Given the description of an element on the screen output the (x, y) to click on. 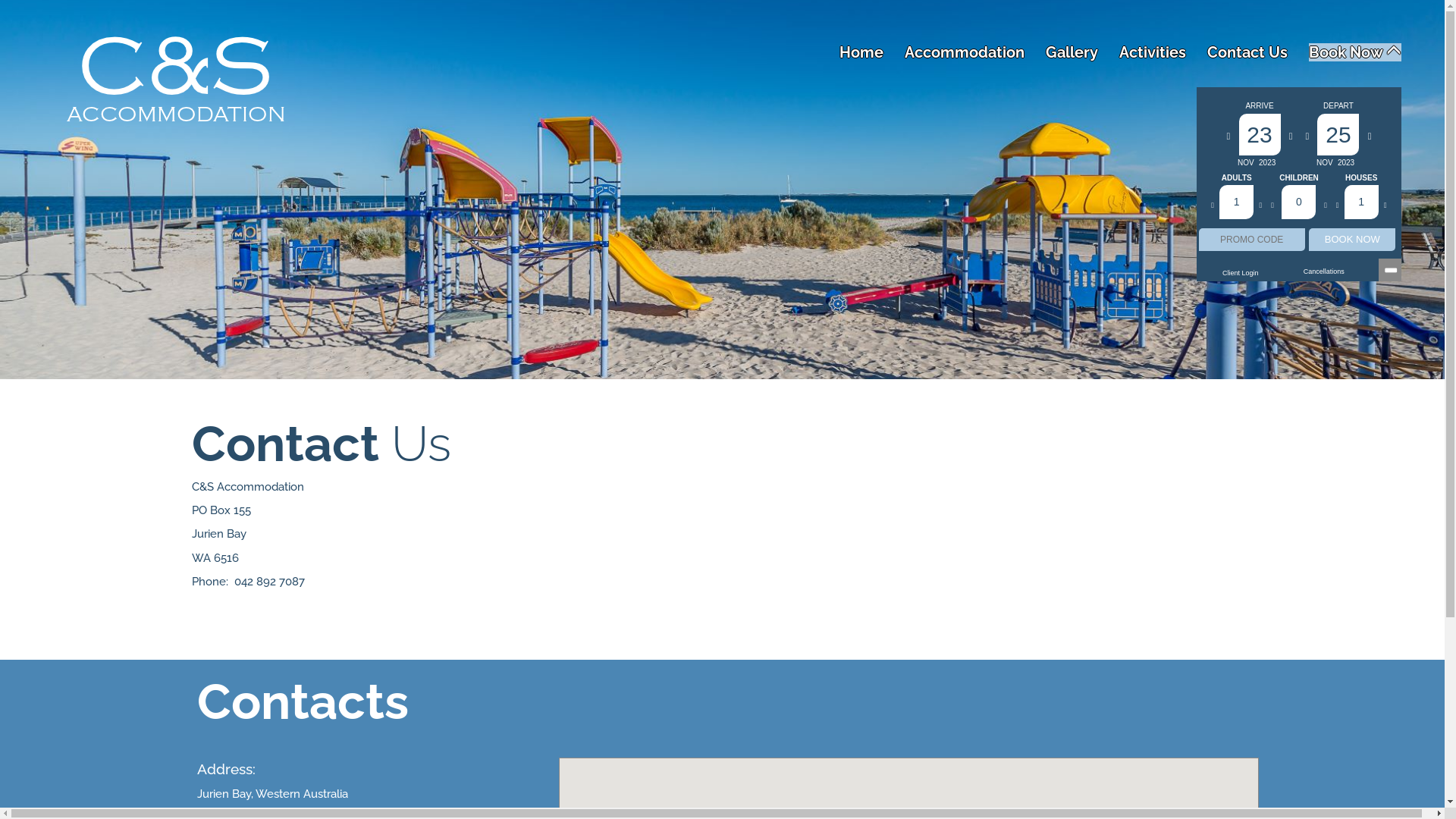
Client Login Element type: text (1240, 272)
Gallery Element type: text (1071, 52)
Contact Us Element type: text (1247, 52)
Accommodation Element type: text (964, 52)
Activities Element type: text (1152, 52)
Home Element type: text (861, 52)
Book Now Element type: text (1354, 52)
BOOK NOW Element type: text (1351, 239)
Cancellations Element type: text (1323, 271)
